Given the description of an element on the screen output the (x, y) to click on. 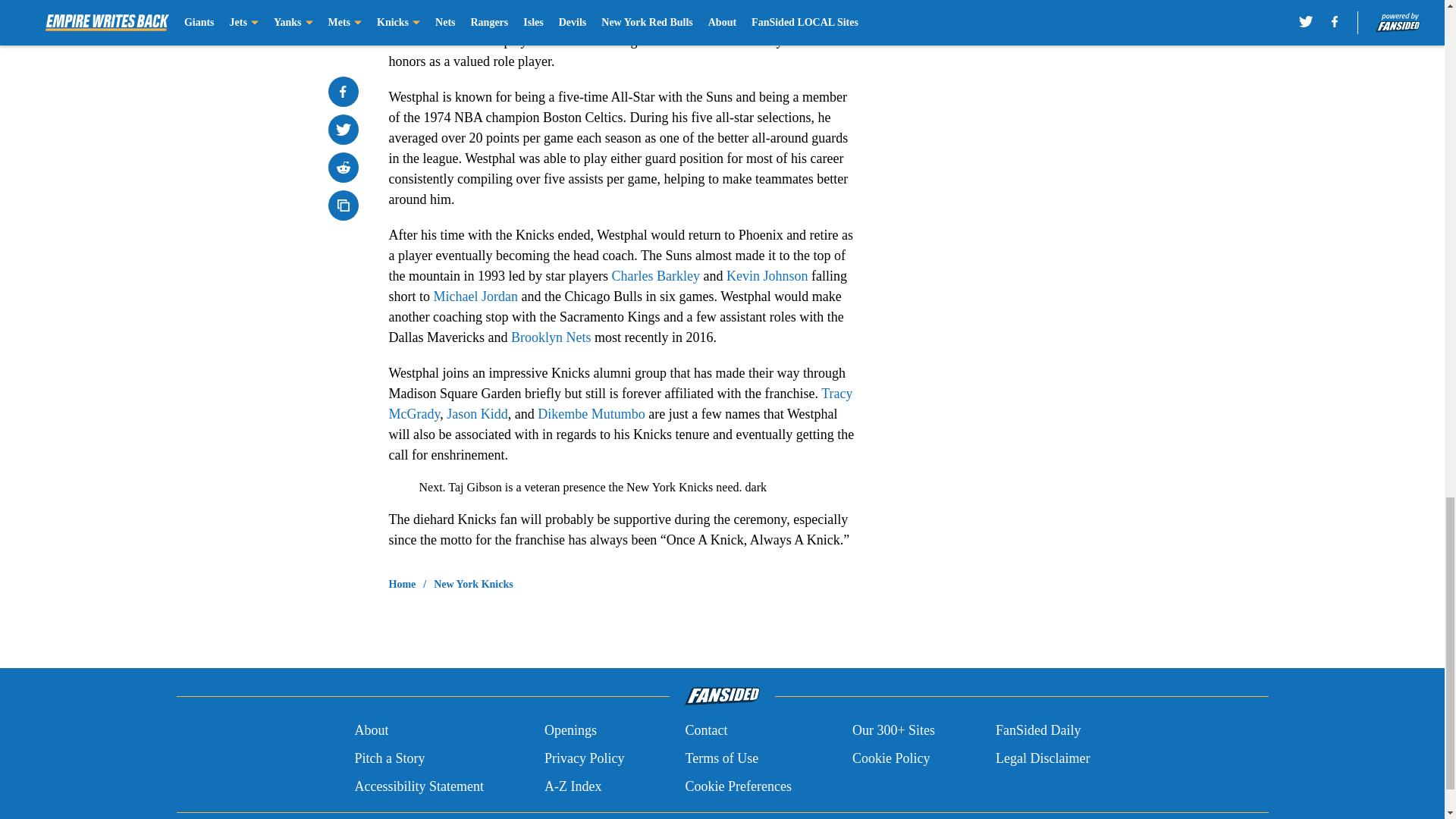
About (370, 730)
Michael Jordan (475, 296)
New York Knicks (473, 584)
Kevin Johnson (767, 275)
Brooklyn Nets (551, 337)
Charles Barkley (654, 275)
Dikembe Mutumbo (591, 413)
Openings (570, 730)
Jason Kidd (477, 413)
Tracy McGrady (619, 403)
